Given the description of an element on the screen output the (x, y) to click on. 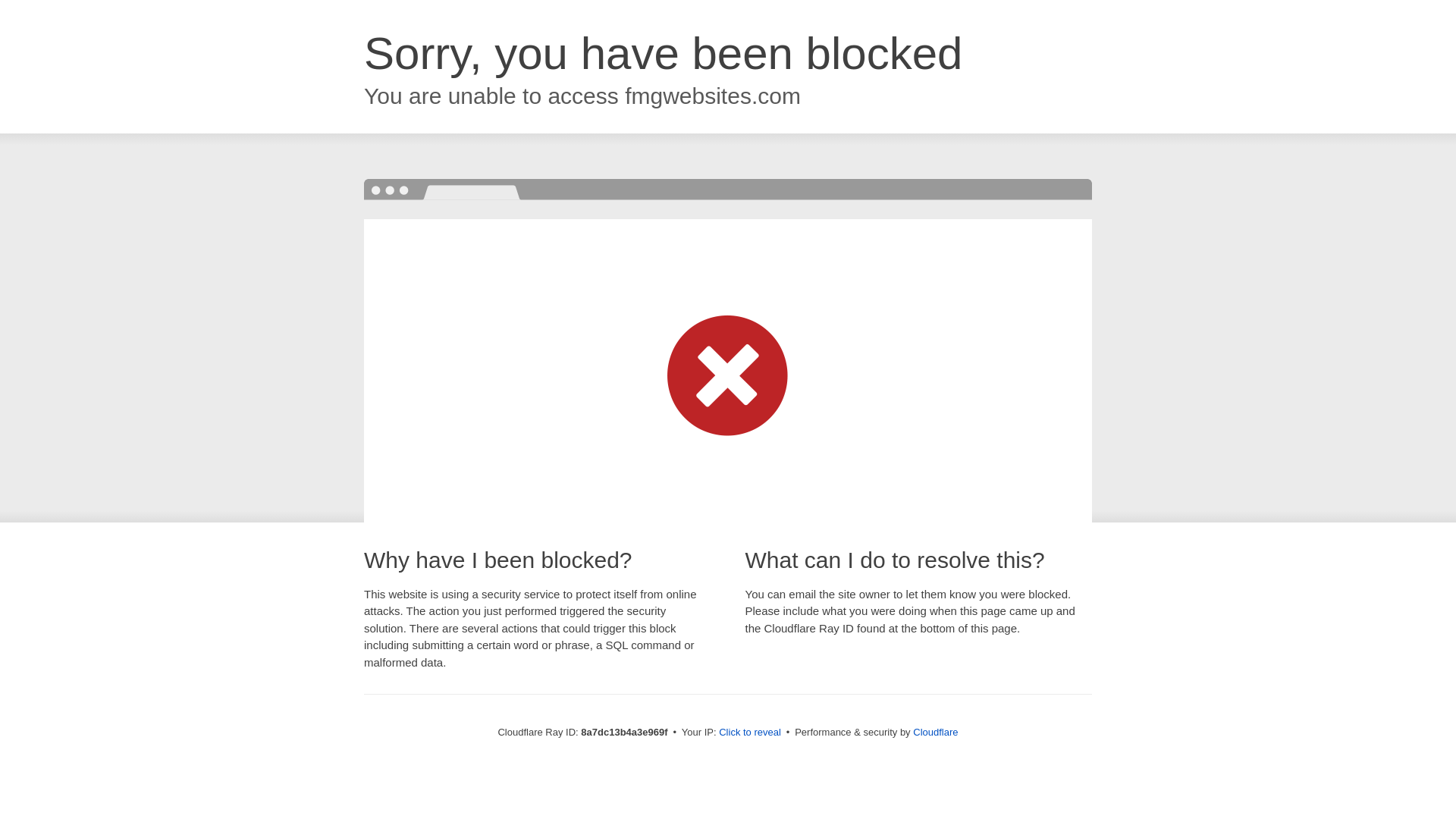
Cloudflare (935, 731)
Click to reveal (749, 732)
